Given the description of an element on the screen output the (x, y) to click on. 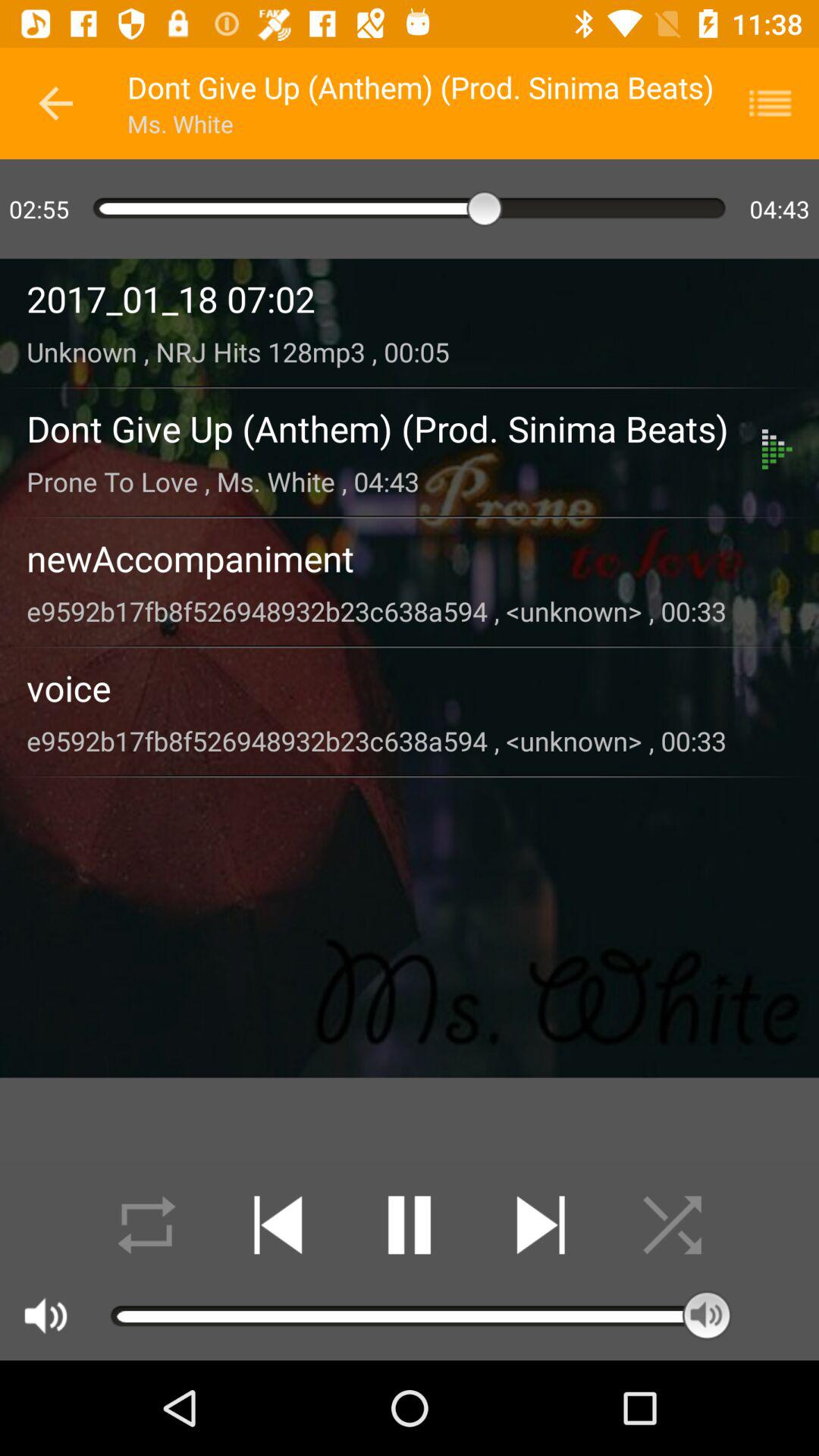
shuffle (146, 1224)
